Given the description of an element on the screen output the (x, y) to click on. 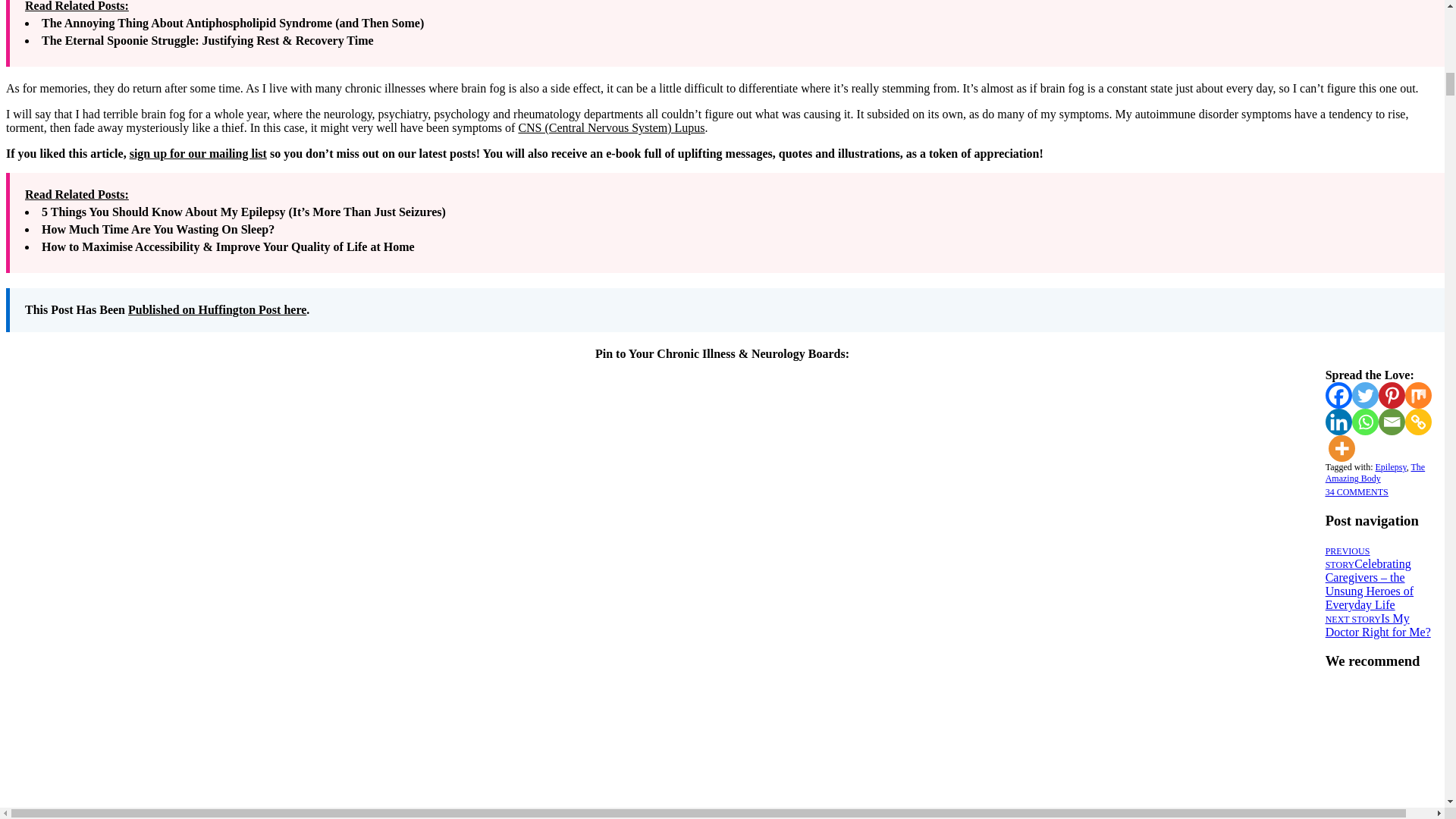
Pinterest (1391, 395)
Facebook (1338, 395)
Twitter (1365, 395)
